Given the description of an element on the screen output the (x, y) to click on. 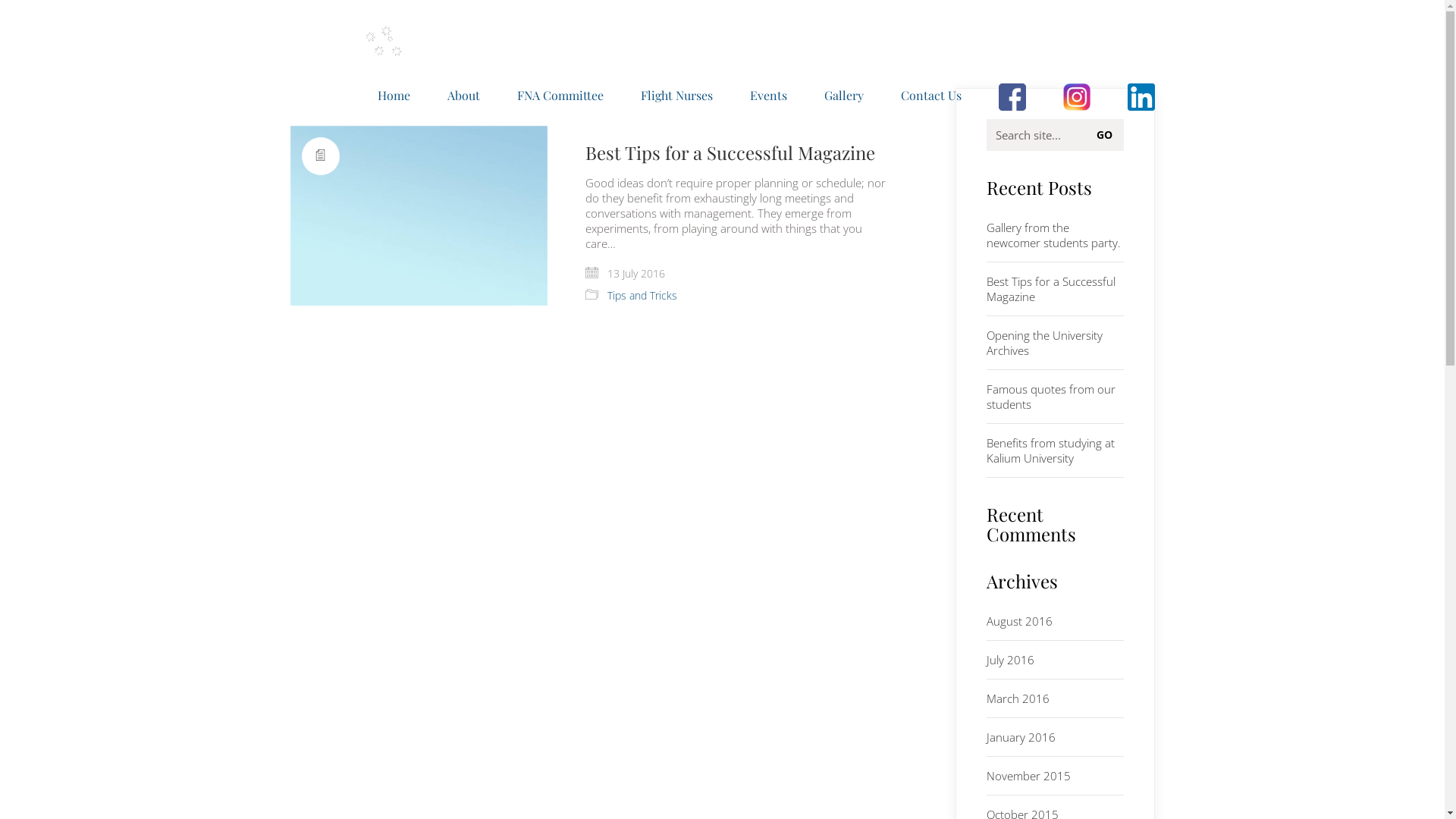
Flight Nurses Element type: text (676, 95)
Gallery from the newcomer students party. Element type: text (1054, 234)
Best Tips for a Successful Magazine Element type: text (730, 152)
Tips and Tricks Element type: text (641, 295)
January 2016 Element type: text (1020, 736)
Home Element type: text (393, 95)
FNA Committee Element type: text (560, 95)
Events Element type: text (767, 95)
Search for: Element type: hover (1054, 134)
About Element type: text (463, 95)
Best Tips for a Successful Magazine Element type: text (1054, 288)
Contact Us Element type: text (930, 95)
Benefits from studying at Kalium University Element type: text (1054, 450)
Famous quotes from our students Element type: text (1054, 396)
November 2015 Element type: text (1028, 775)
March 2016 Element type: text (1017, 698)
Adworx Digital Element type: text (931, 780)
August 2016 Element type: text (1019, 620)
Go Element type: text (1107, 135)
July 2016 Element type: text (1010, 659)
Opening the University Archives Element type: text (1054, 342)
Gallery Element type: text (842, 95)
